Given the description of an element on the screen output the (x, y) to click on. 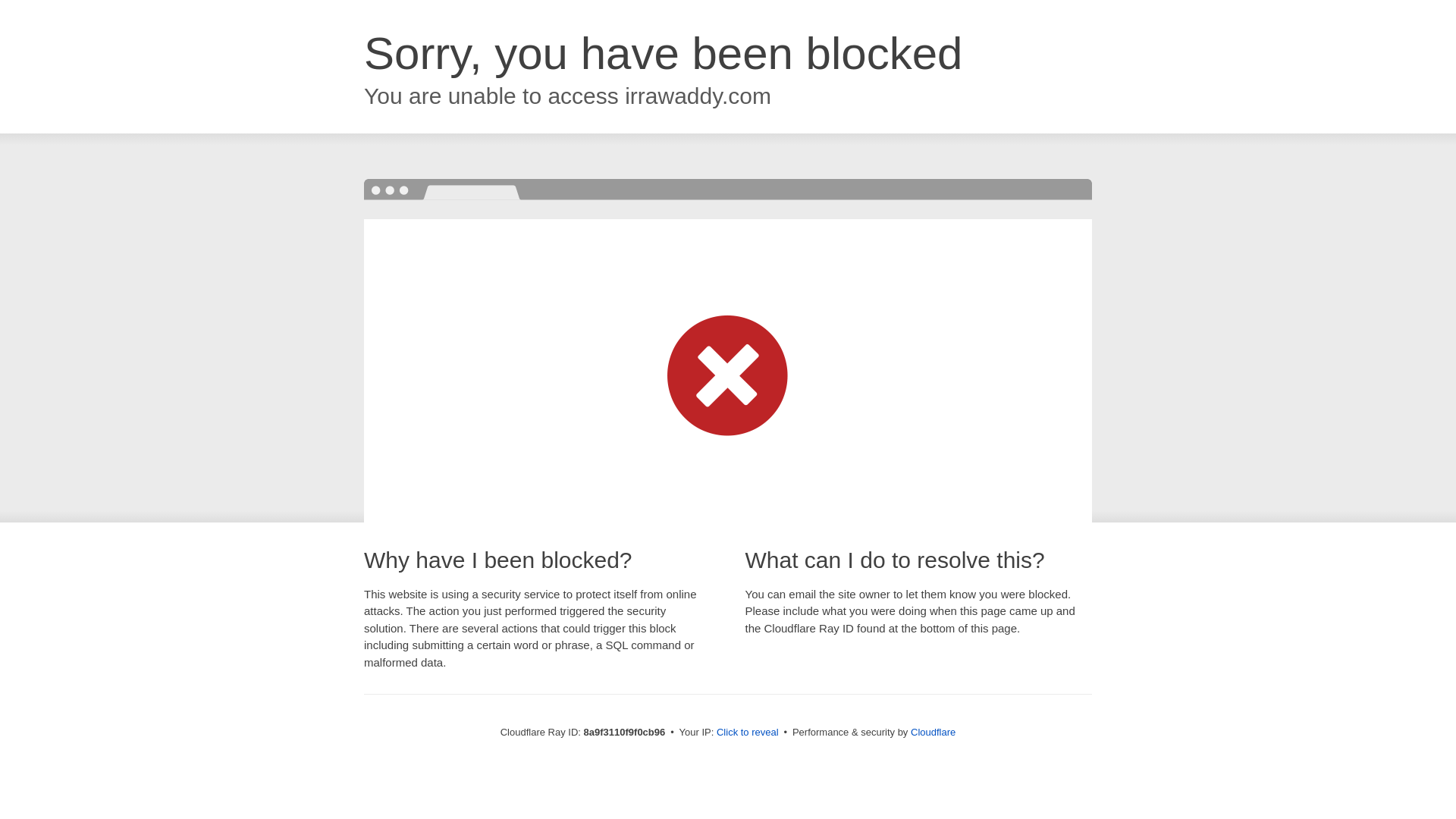
Click to reveal (747, 732)
Cloudflare (933, 731)
